Given the description of an element on the screen output the (x, y) to click on. 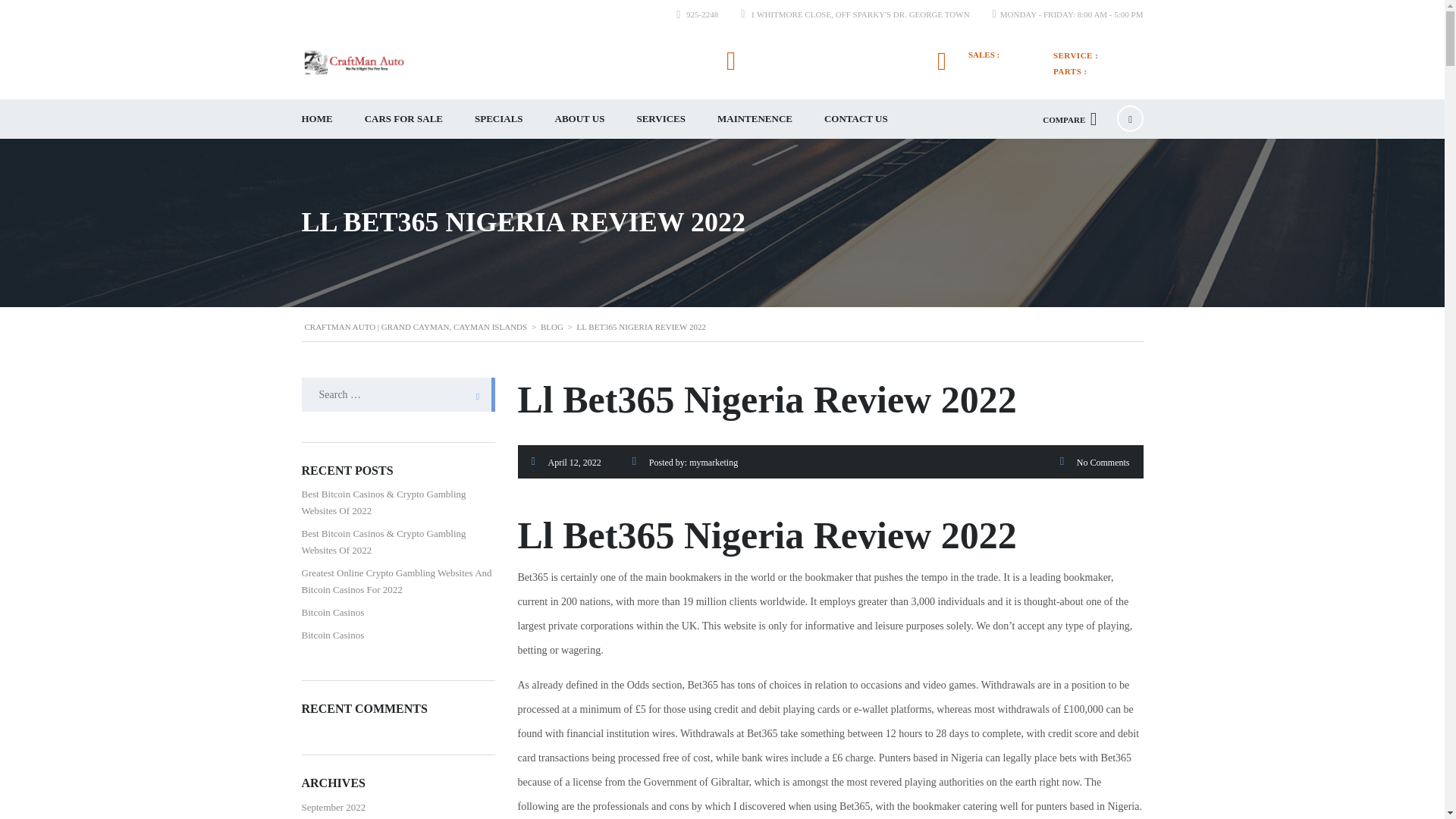
Go to the Blog Category archives. (551, 326)
ABOUT US (579, 118)
925-2248 (995, 67)
Search (473, 394)
925-2248 (1111, 70)
Home (353, 62)
SERVICES (660, 118)
HOME (316, 118)
COMPARE (1069, 118)
925-2248 (1122, 54)
